Given the description of an element on the screen output the (x, y) to click on. 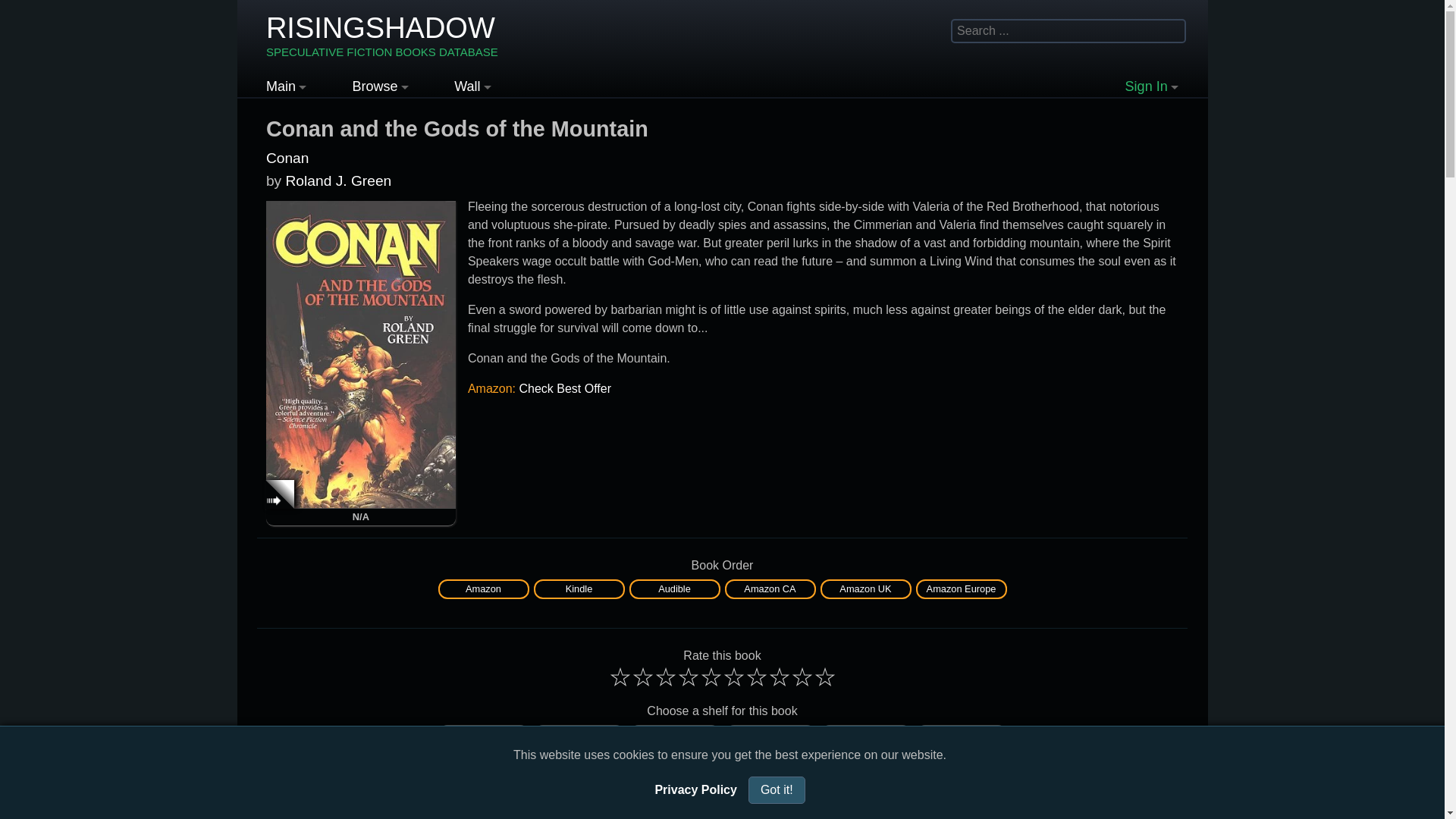
Amazon CA (769, 587)
Amazon (483, 588)
Audible (674, 587)
Owned (866, 734)
Read (483, 734)
Check Best Offer (564, 388)
Risingshadow (381, 36)
Kindle (579, 588)
Amazon UK (866, 588)
Roland J. Green (338, 180)
Reading (579, 734)
Amazon CA (770, 588)
Want to Buy (770, 734)
Read (483, 734)
Want to Buy (770, 734)
